Given the description of an element on the screen output the (x, y) to click on. 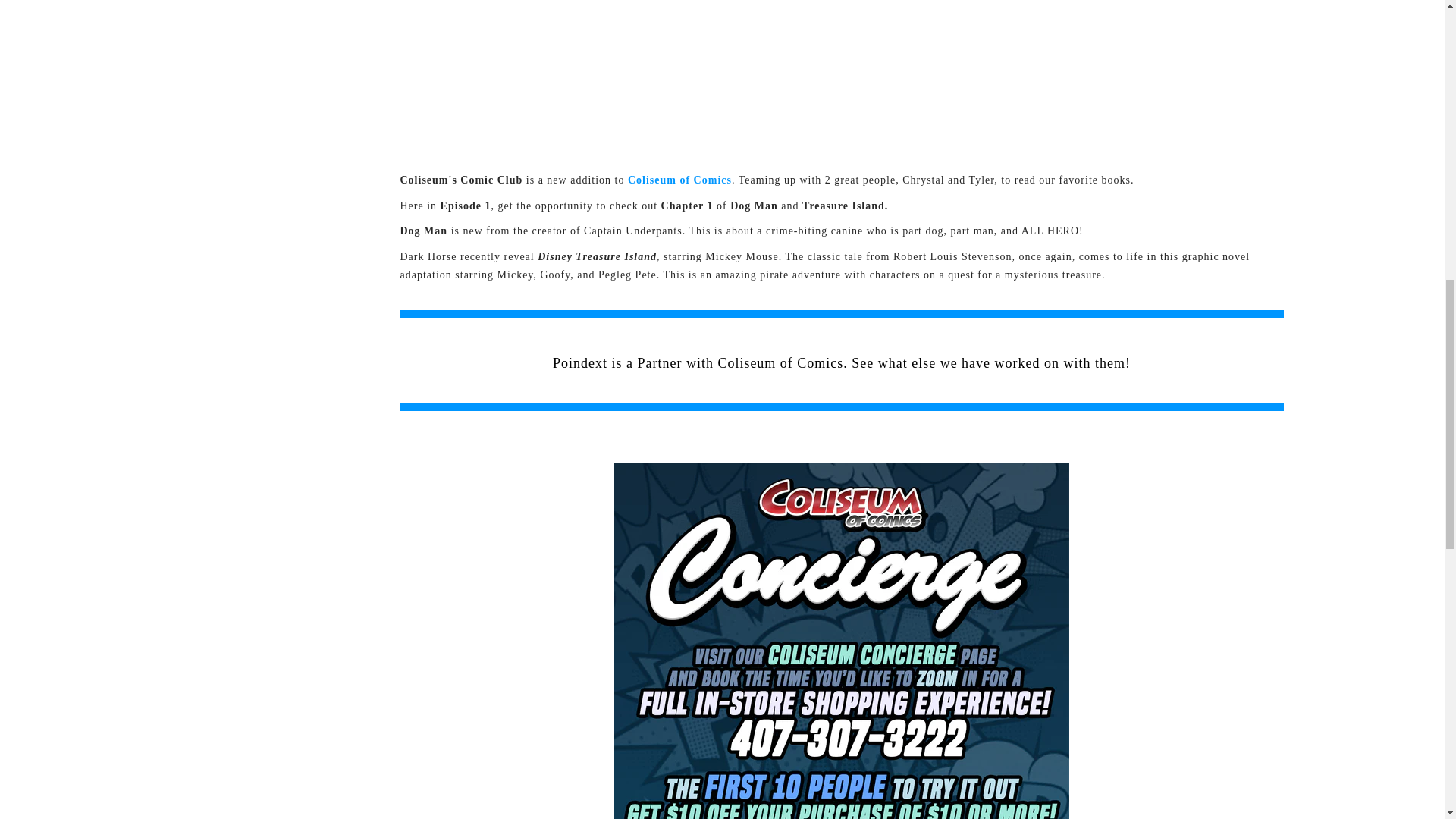
Coliseum of Comics - Official Web Site (679, 179)
Coliseum of Comics (679, 179)
